Given the description of an element on the screen output the (x, y) to click on. 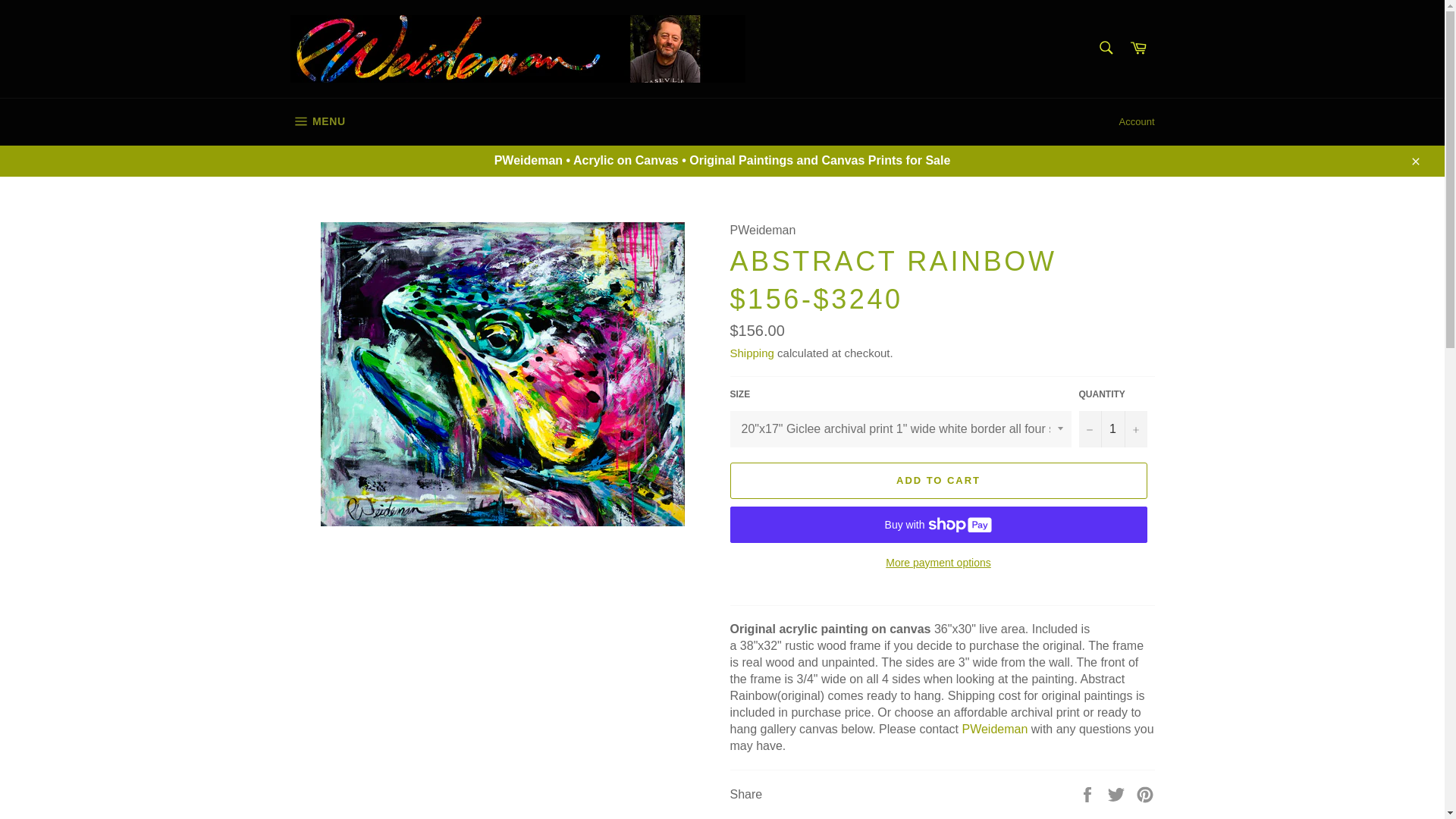
More payment options (938, 562)
PWeideman (993, 728)
Shipping (751, 352)
1 (1112, 429)
Close (317, 121)
Cart (1414, 160)
ADD TO CART (1138, 48)
Pin on Pinterest (938, 480)
Search (1144, 793)
Tweet on Twitter (1104, 47)
Account (1117, 793)
Share on Facebook (1136, 121)
